Given the description of an element on the screen output the (x, y) to click on. 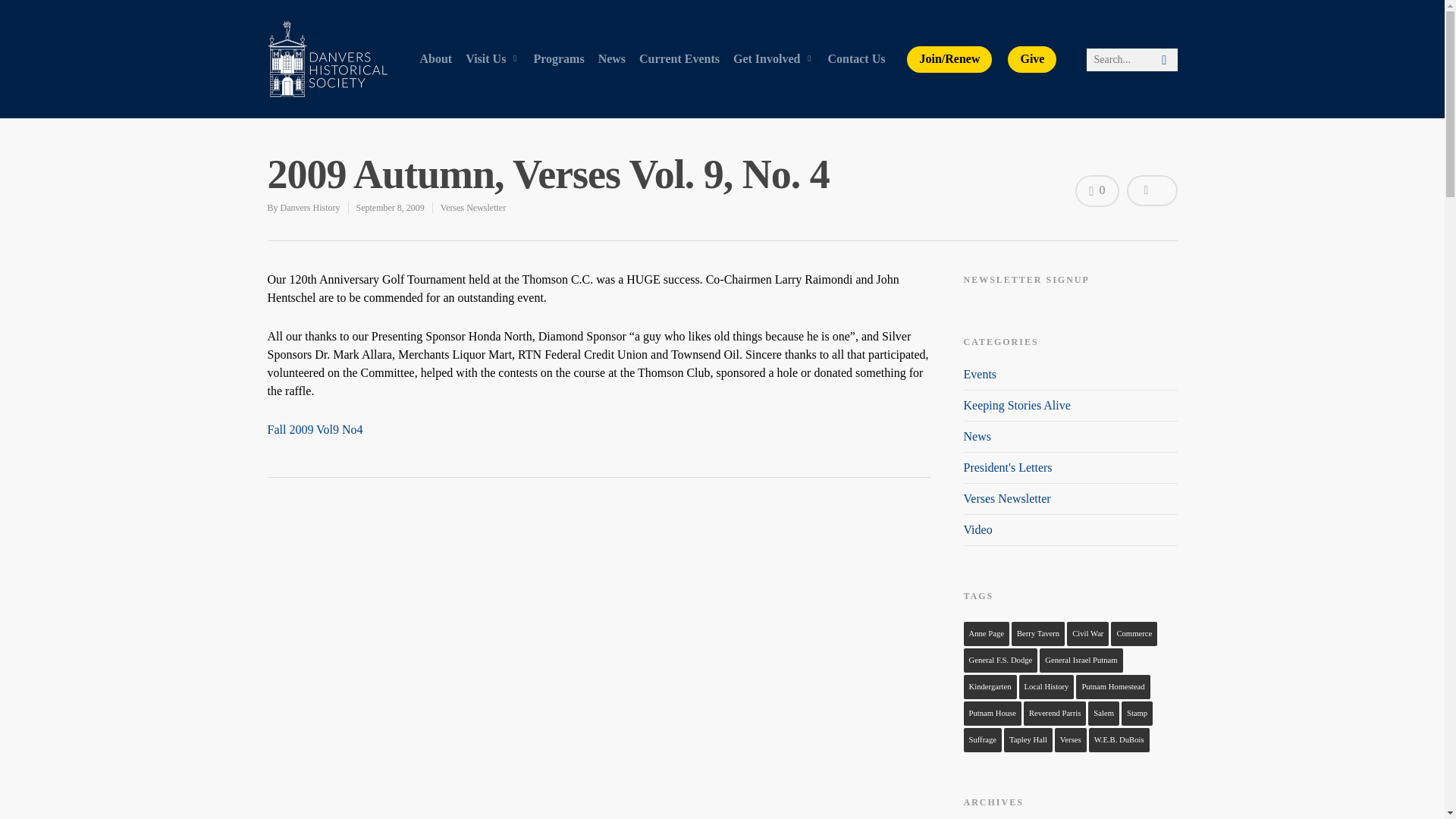
Search for: (1131, 59)
Current Events (679, 69)
Posts by Danvers History (310, 207)
Get Involved (772, 69)
Give (1032, 58)
Love this (1096, 191)
